Given the description of an element on the screen output the (x, y) to click on. 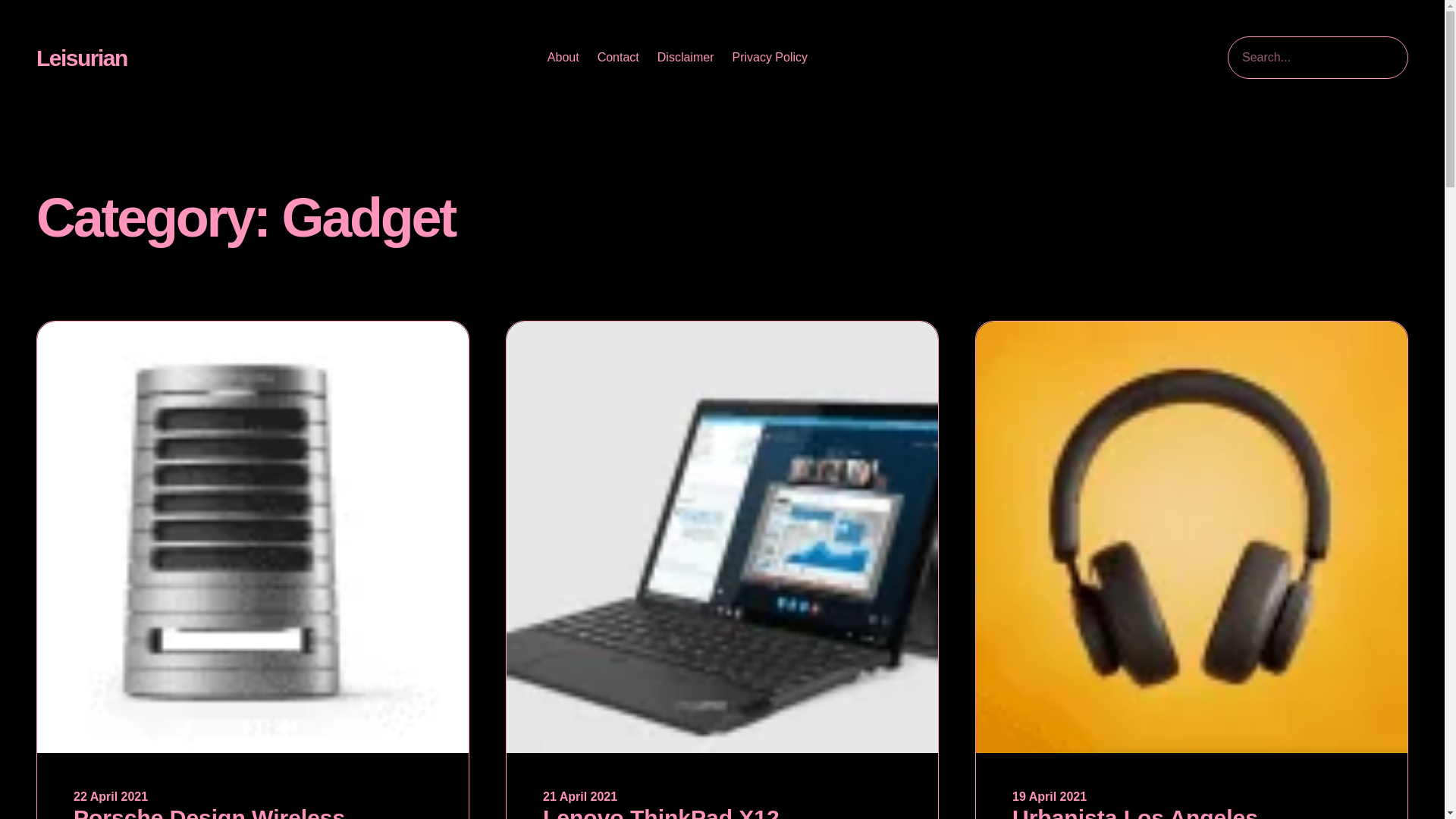
Lenovo ThinkPad X12 Detachable (722, 812)
Disclaimer (686, 57)
Leisurian (82, 57)
About (563, 57)
Contact (617, 57)
Porsche Design Wireless Speaker PDS50 (253, 812)
Privacy Policy (770, 57)
